Given the description of an element on the screen output the (x, y) to click on. 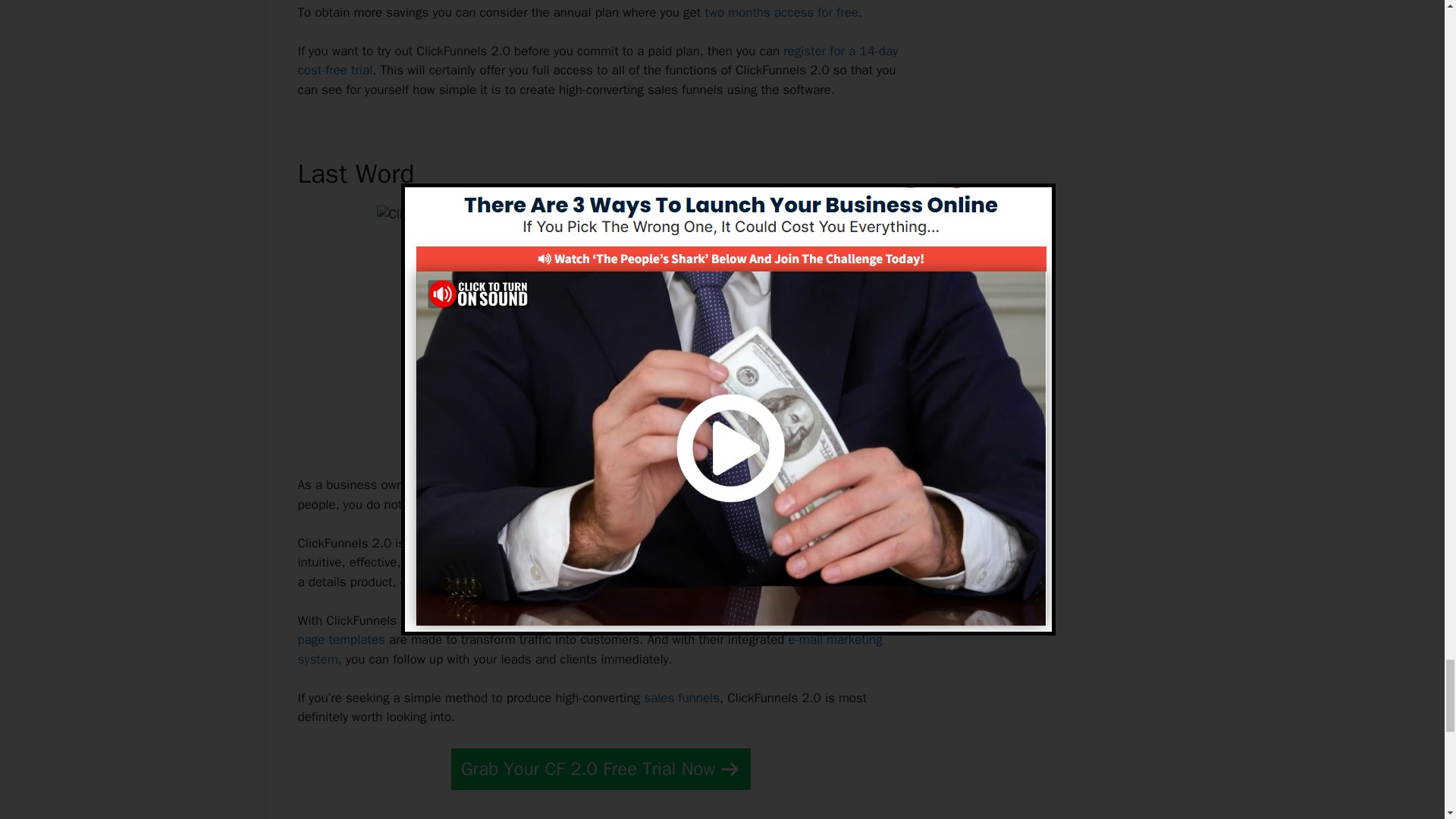
e-mail marketing system (589, 649)
register for a 14-day cost-free trial (597, 60)
sales funnels (681, 697)
Grab Your CF 2.0 Free Trial Now (601, 769)
landing pages (745, 620)
page templates (340, 639)
two months access for free (781, 12)
sales funnels are important for your success (629, 484)
